Given the description of an element on the screen output the (x, y) to click on. 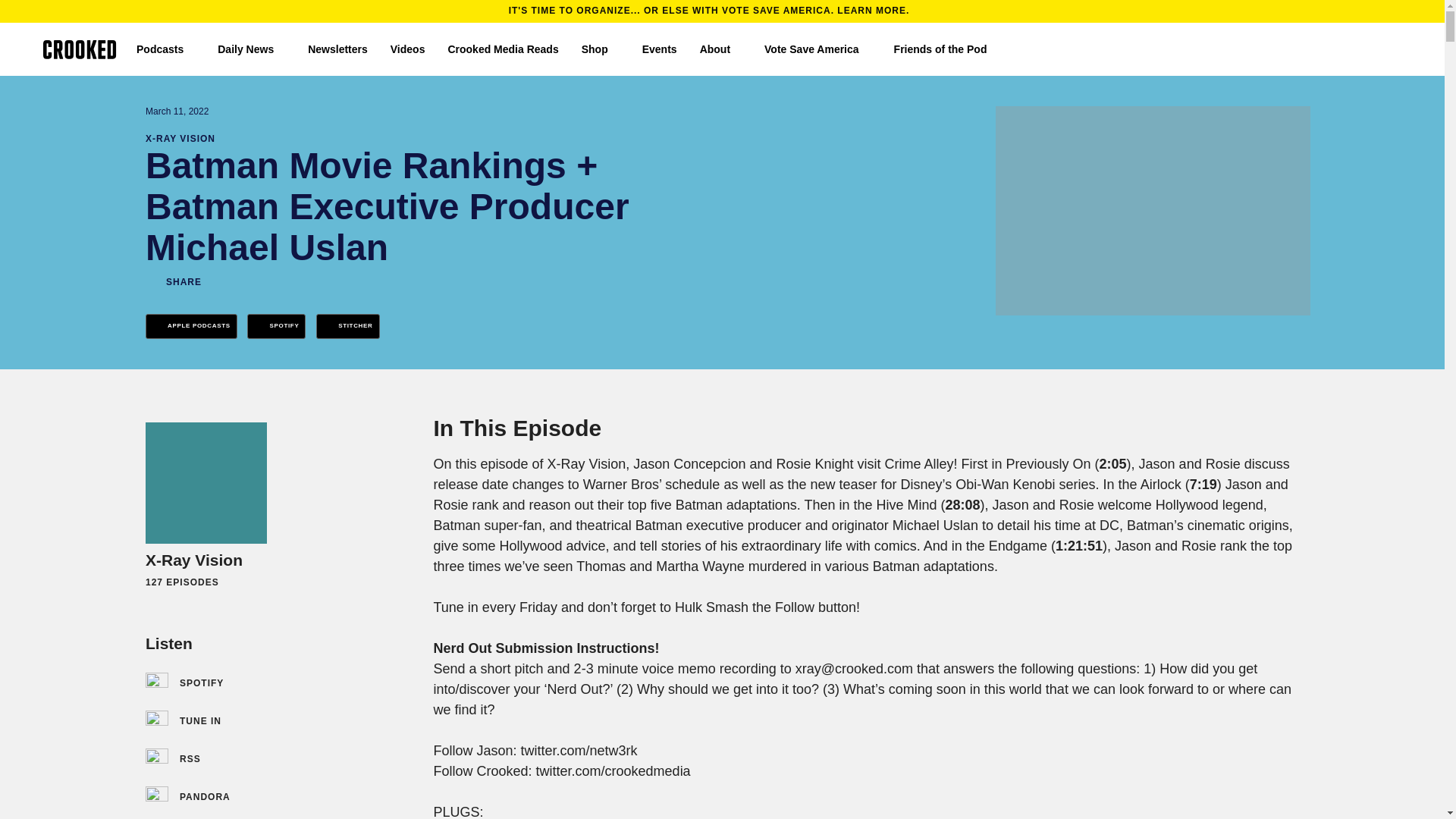
Newsletters (337, 48)
Shop (600, 48)
Videos (407, 48)
Events (659, 48)
About (720, 48)
Vote Save America (817, 48)
Crooked Media Reads (501, 48)
Podcasts (165, 48)
